Given the description of an element on the screen output the (x, y) to click on. 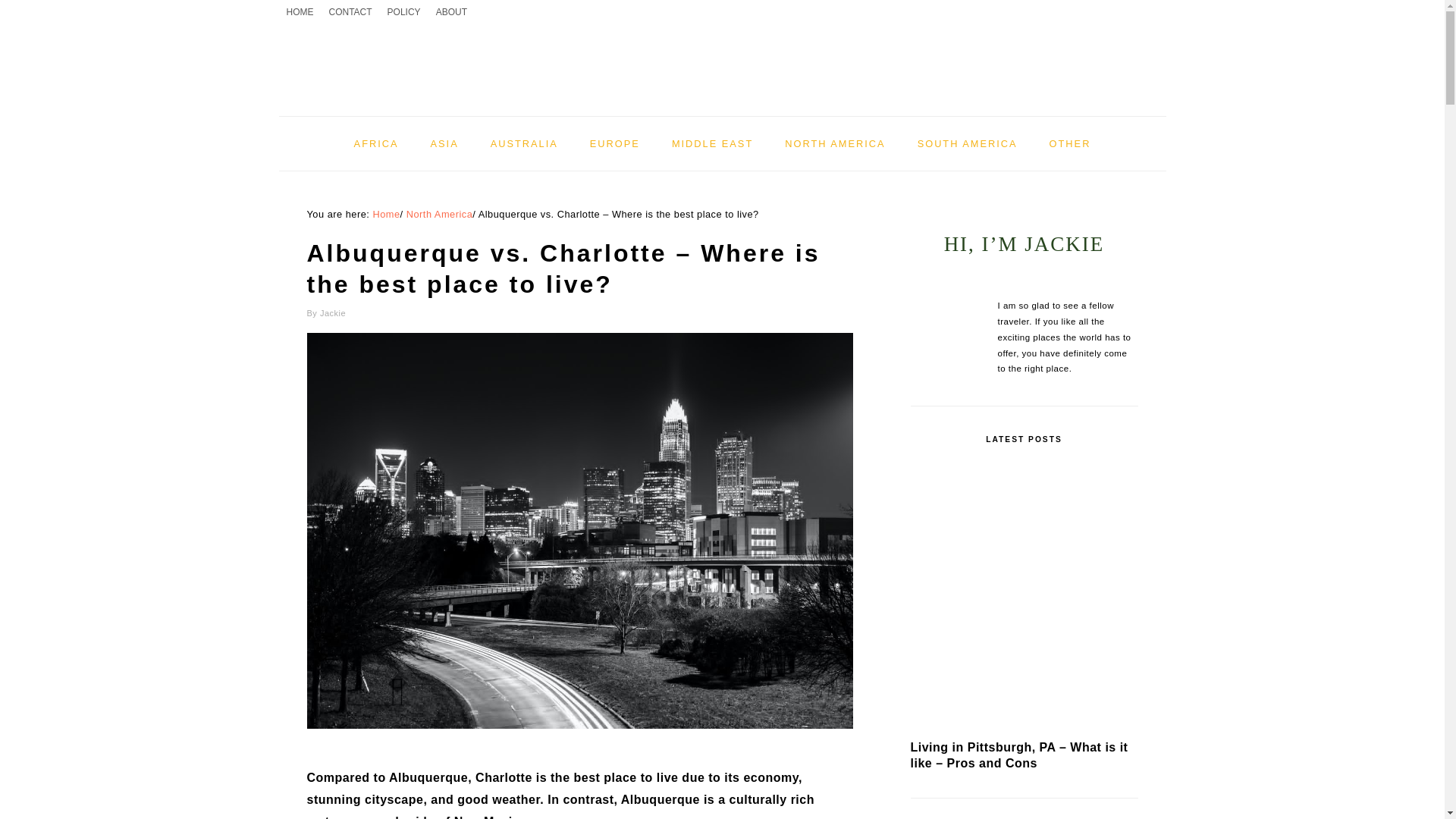
North America (439, 214)
NORTH AMERICA (834, 143)
ABOUT (451, 12)
ASIA (444, 143)
MIDDLE EAST (712, 143)
Home (385, 214)
Posts by Jackie (333, 312)
SOUTH AMERICA (967, 143)
AFRICA (375, 143)
OTHER (1069, 143)
POLICY (404, 12)
Combadi - World Travel Site (721, 59)
HOME (300, 12)
CONTACT (350, 12)
